Given the description of an element on the screen output the (x, y) to click on. 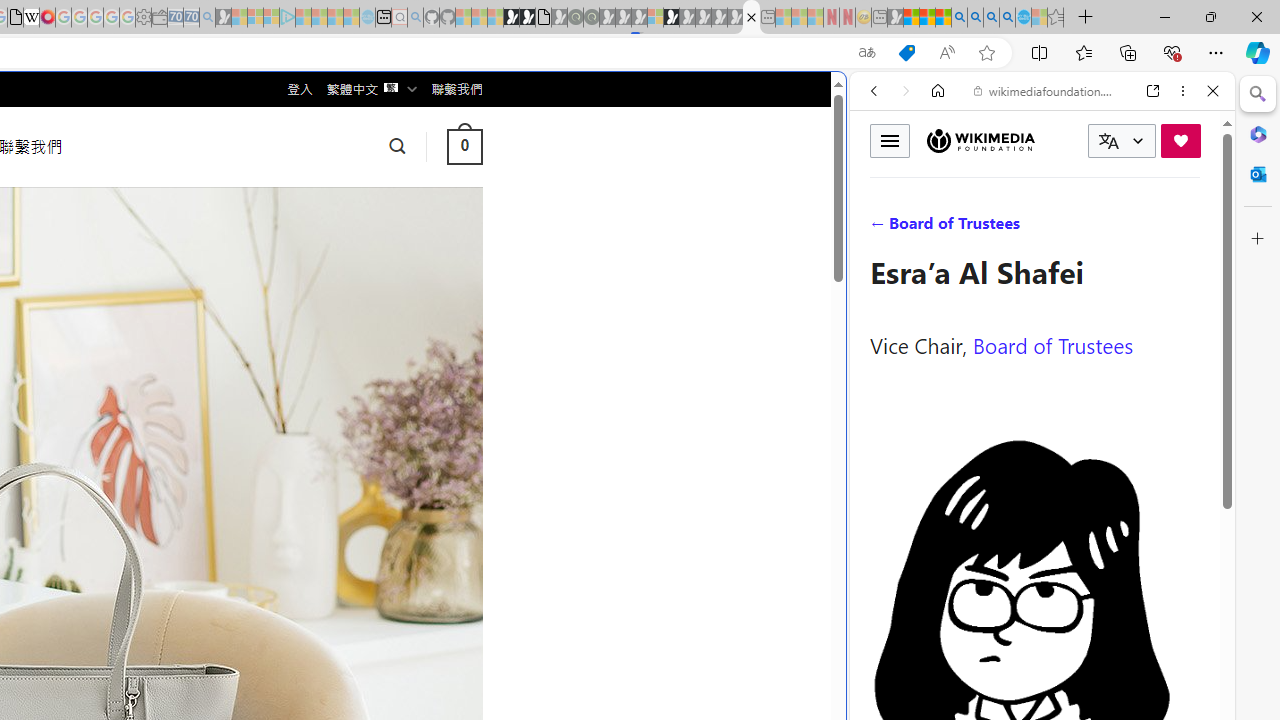
CURRENT LANGUAGE: (1121, 141)
Wikimedia Foundation (980, 140)
